Given the description of an element on the screen output the (x, y) to click on. 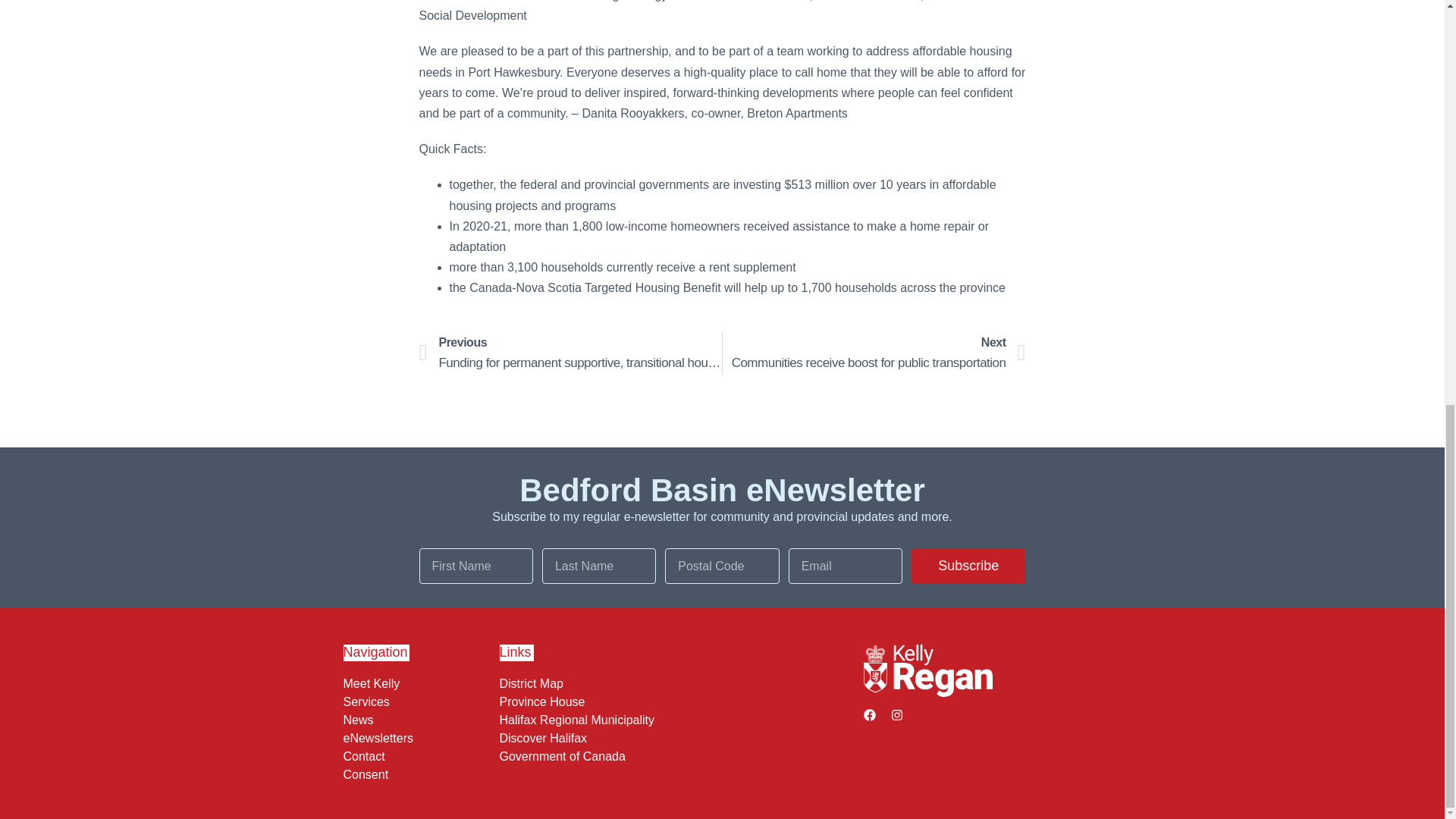
Government of Canada (677, 756)
Halifax Regional Municipality (677, 720)
Contact (417, 756)
Province House (677, 702)
News (417, 720)
District Map (677, 683)
Services (417, 702)
eNewsletters (874, 353)
Discover Halifax (417, 738)
